Given the description of an element on the screen output the (x, y) to click on. 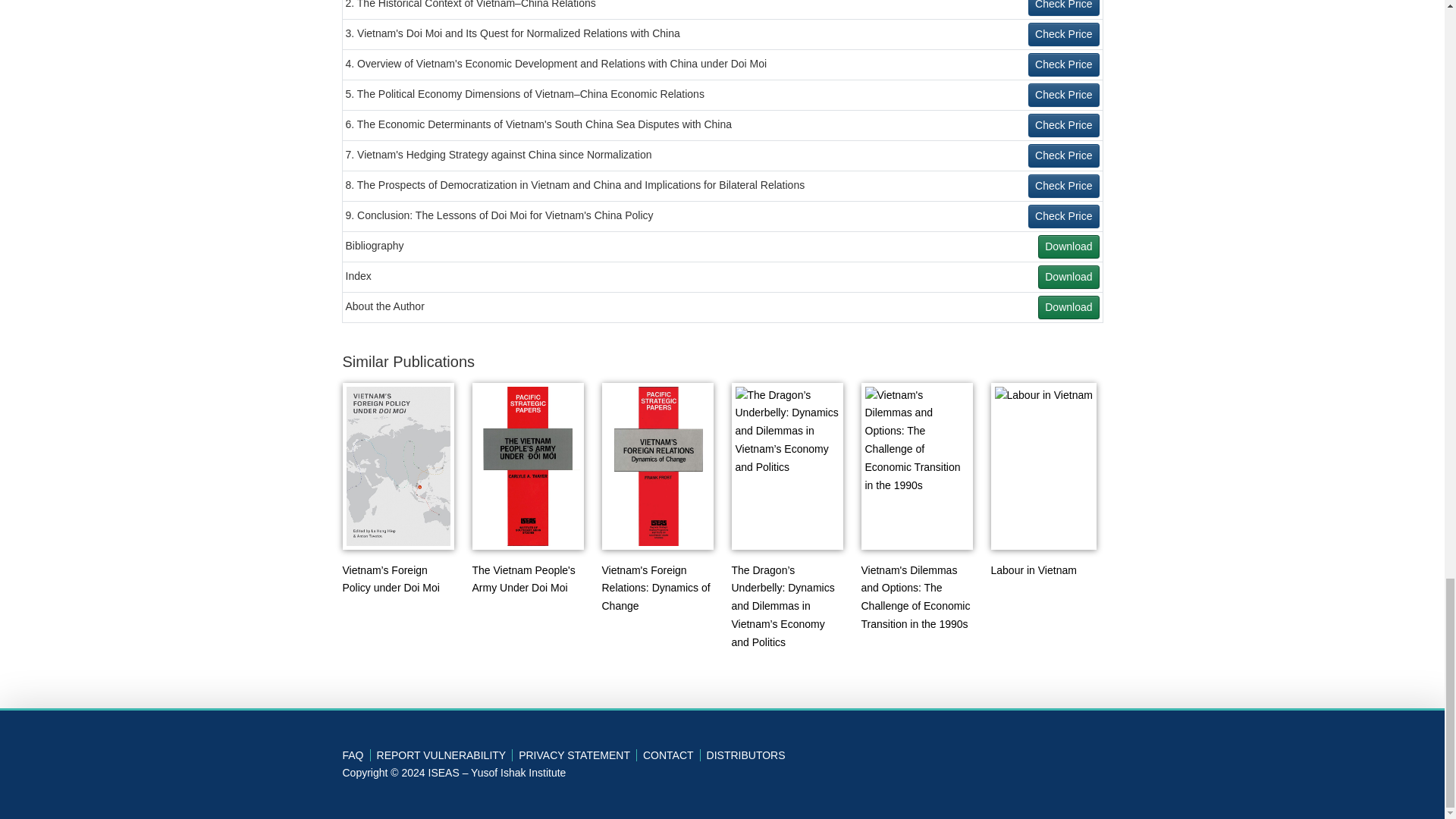
Check Price (1063, 64)
Download (1068, 277)
Download (1068, 246)
Check Price (1063, 125)
Download (1068, 307)
Check Price (1063, 186)
Check Price (1063, 155)
Check Price (1063, 7)
Check Price (1063, 216)
Check Price (1063, 33)
